Given the description of an element on the screen output the (x, y) to click on. 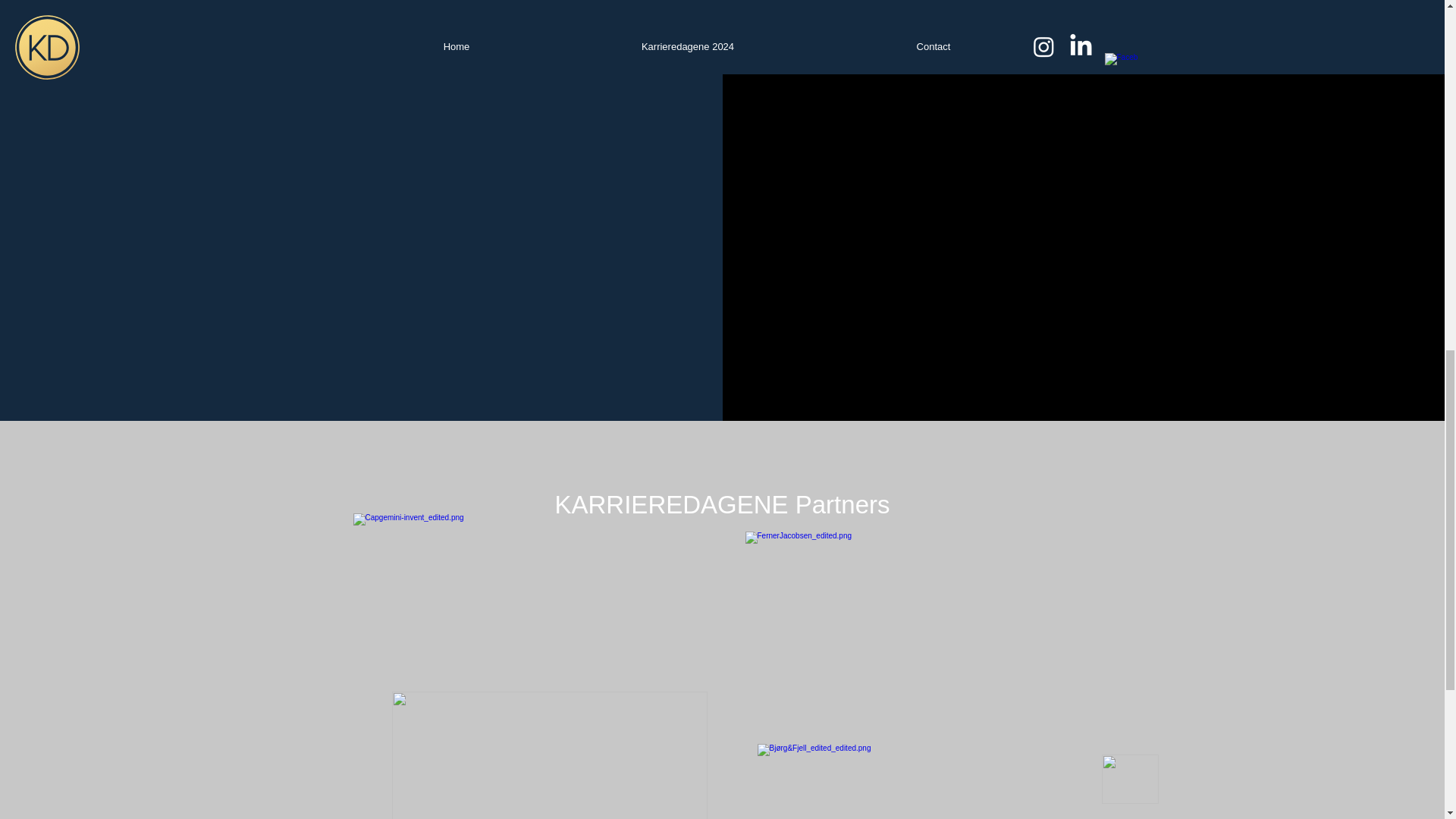
storebrand-logo.png (548, 755)
FernerJacobsen.logo.png (904, 621)
Capgemini-invent.logo.png (549, 622)
